Given the description of an element on the screen output the (x, y) to click on. 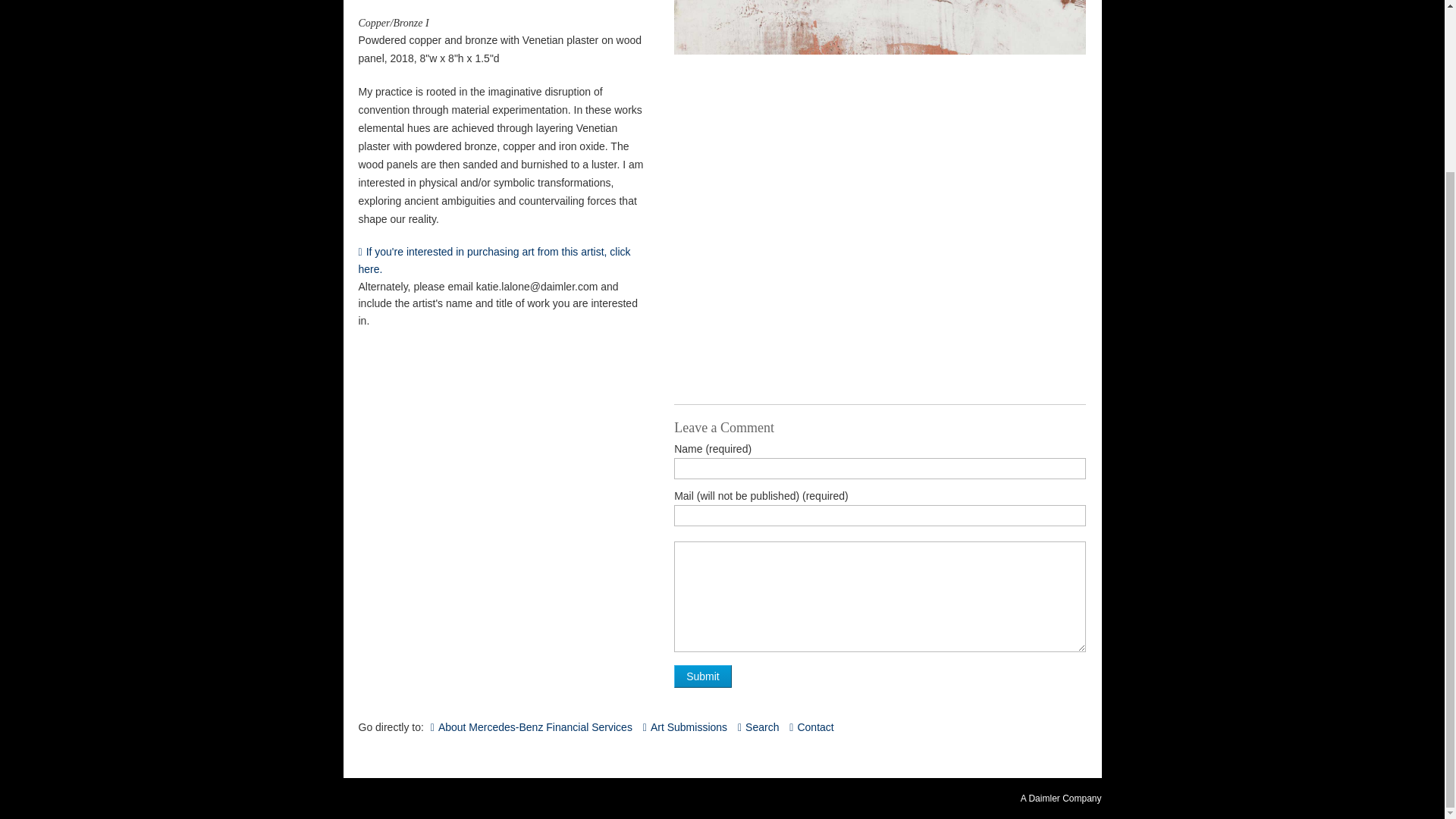
About Mercedes-Benz Financial Services (530, 727)
Search (758, 727)
Art Submissions (684, 727)
Permanent Link to Walker Meredith (500, 260)
Contact (810, 727)
Submit (703, 676)
Submit (703, 676)
